Given the description of an element on the screen output the (x, y) to click on. 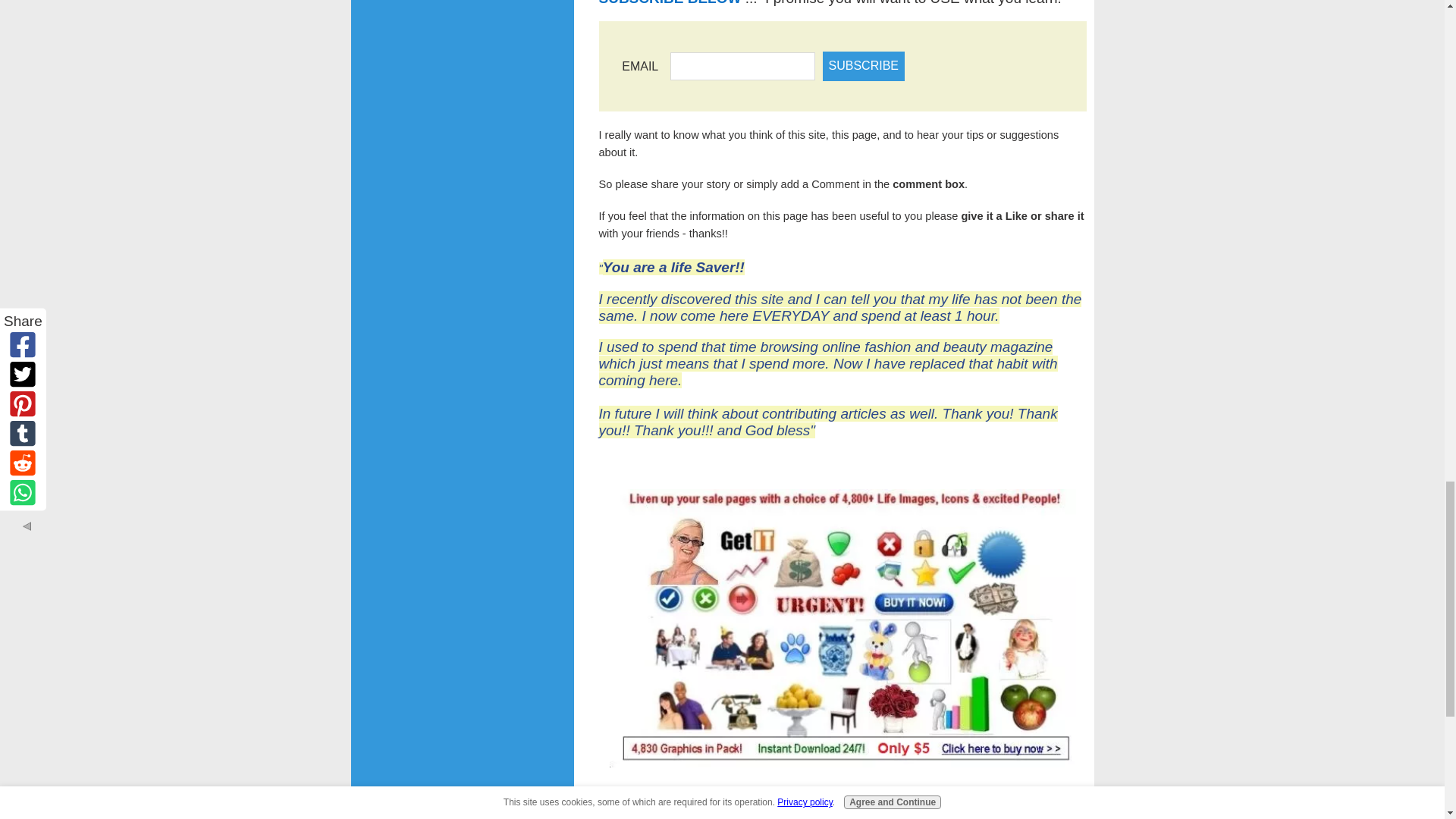
Testimonials (893, 791)
Privacy Policy (800, 790)
Check out my massive graphics pack here - on Sale! (842, 627)
SUBSCRIBE (863, 65)
FAQ (848, 790)
Terms of Use (732, 790)
About Us (675, 790)
Contact Us (622, 790)
